Given the description of an element on the screen output the (x, y) to click on. 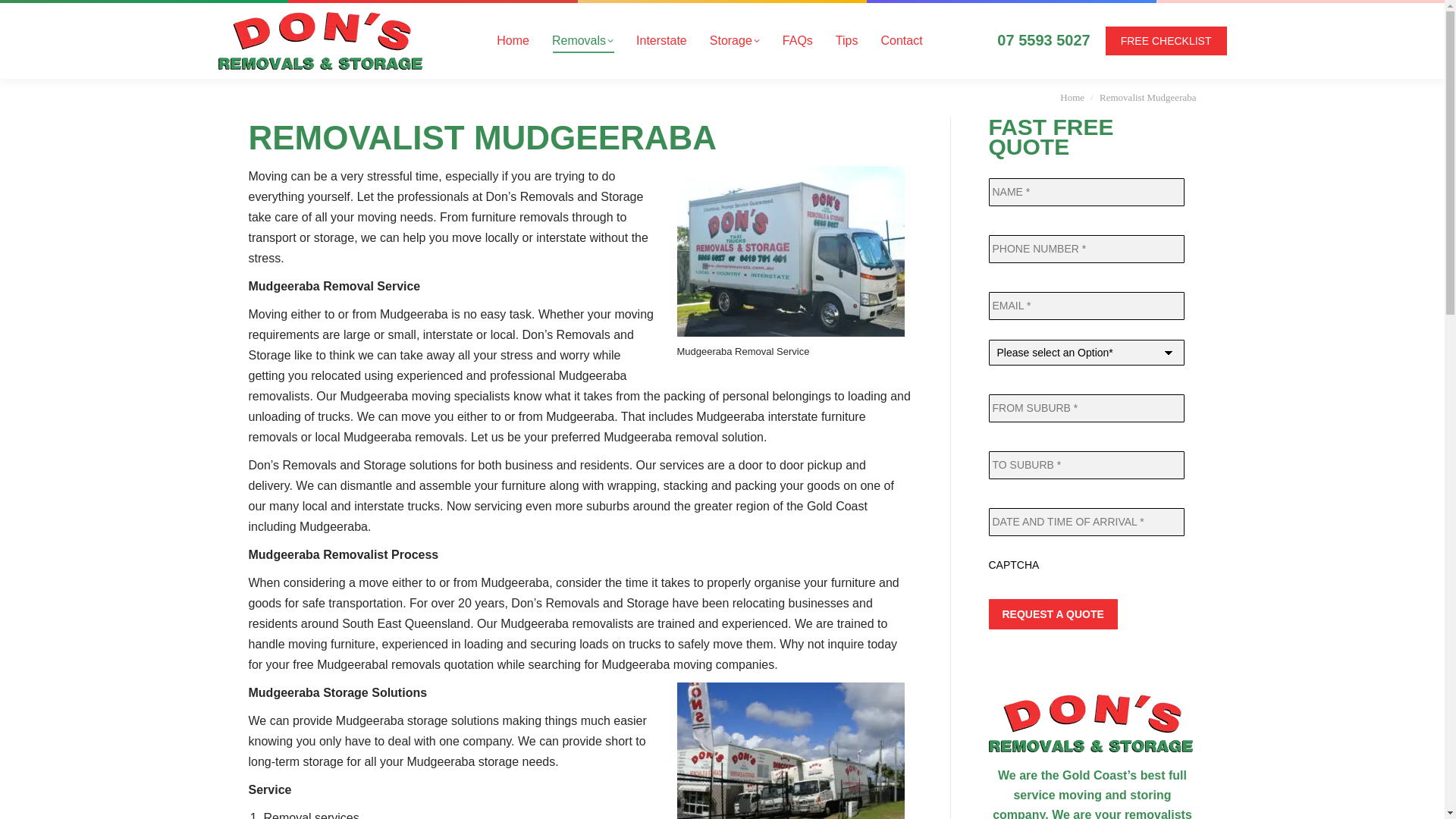
Tips Element type: text (846, 40)
REQUEST A QUOTE Element type: text (1052, 614)
Removals Element type: text (582, 40)
07 5593 5027 Element type: text (1043, 39)
Storage Element type: text (734, 40)
Home Element type: text (512, 40)
Interstate Element type: text (661, 40)
FAQs Element type: text (797, 40)
Contact Element type: text (901, 40)
FREE CHECKLIST Element type: text (1165, 40)
Home Element type: text (1072, 97)
Don's Removalists and Storage Gold Coast Element type: hover (1092, 726)
